Given the description of an element on the screen output the (x, y) to click on. 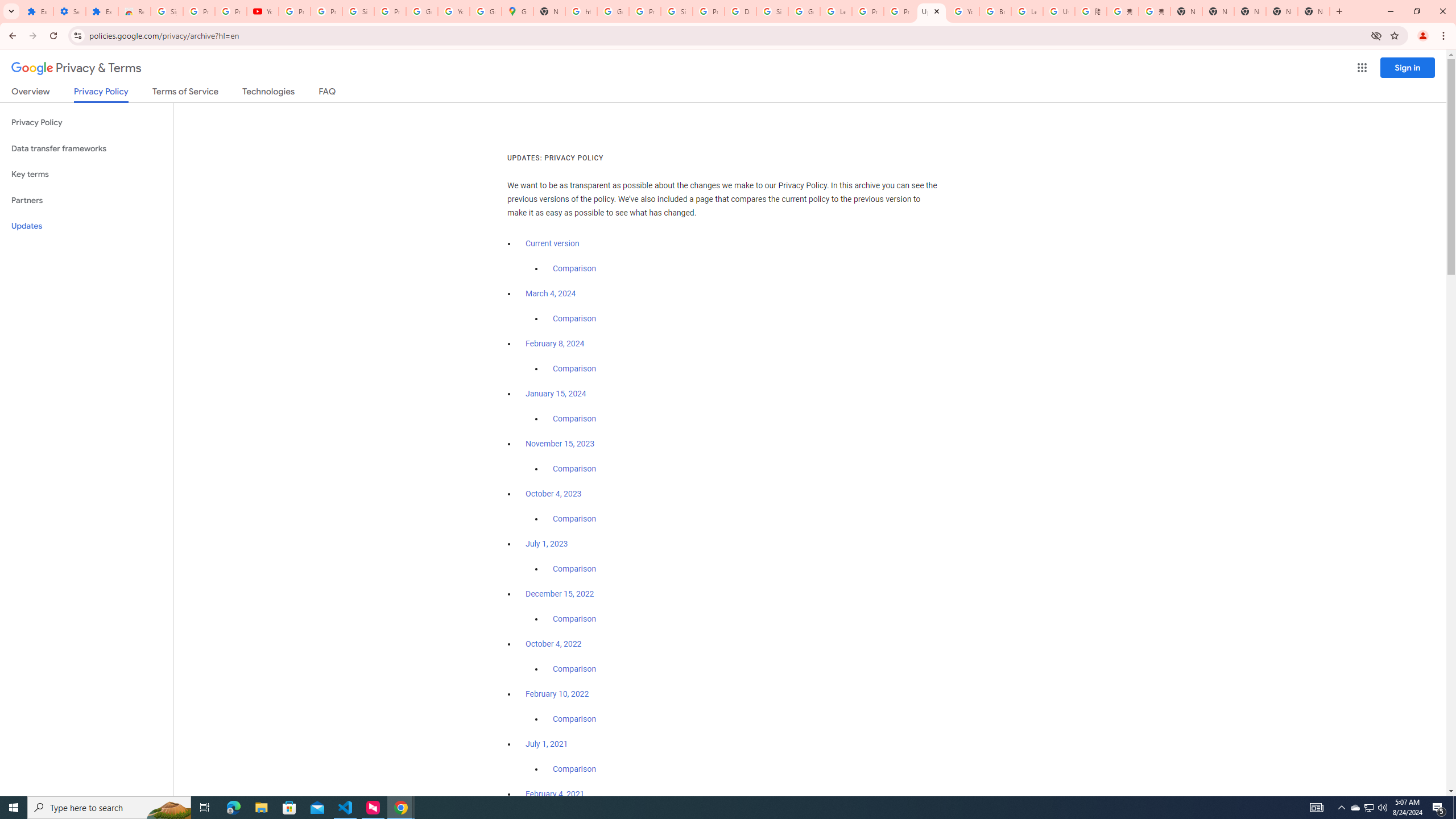
Extensions (37, 11)
November 15, 2023 (560, 443)
Google Account (421, 11)
October 4, 2022 (553, 643)
Comparison (574, 768)
February 10, 2022 (557, 693)
